Given the description of an element on the screen output the (x, y) to click on. 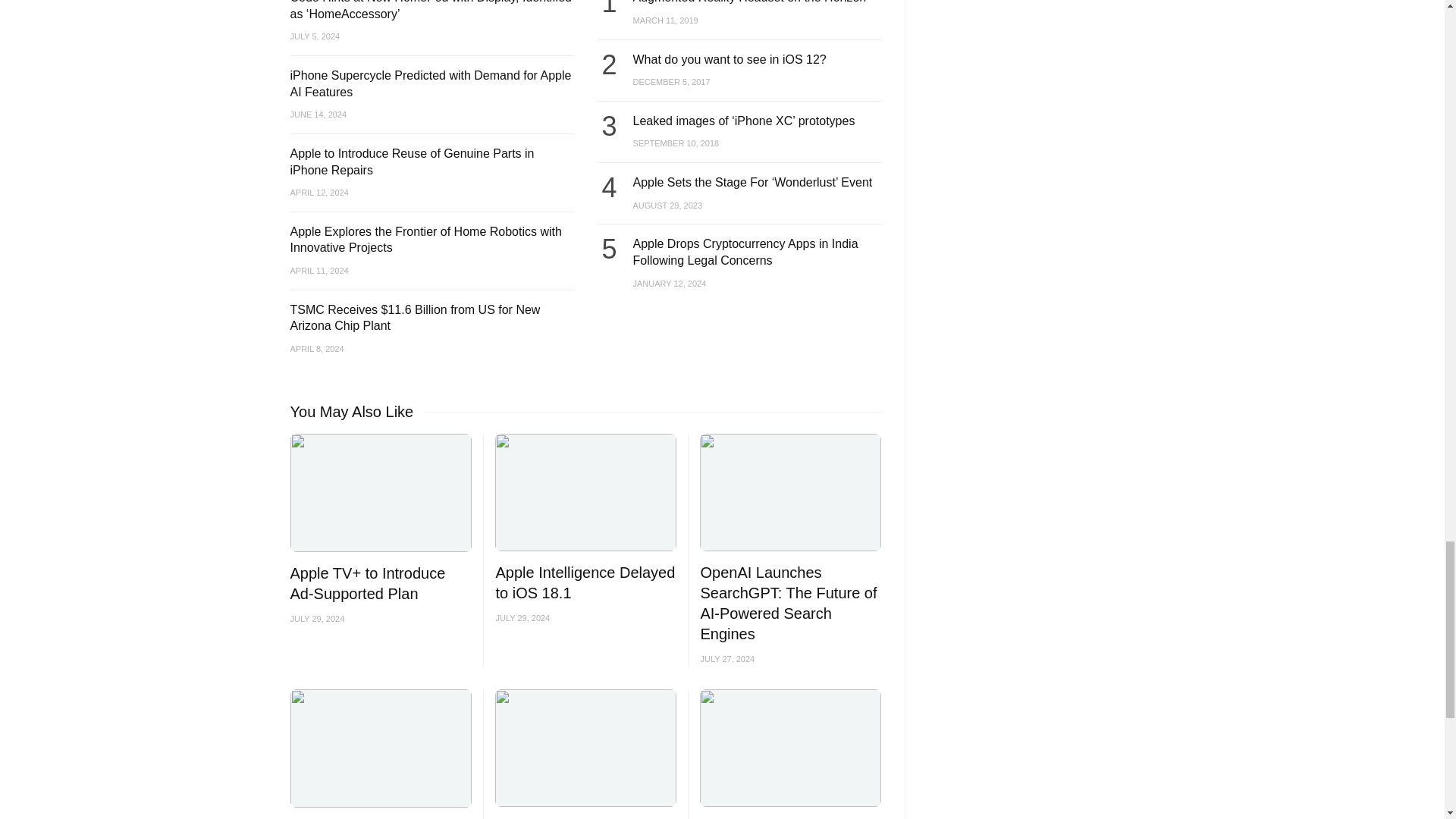
Apple to Introduce Reuse of Genuine Parts in iPhone Repairs (411, 161)
